Given the description of an element on the screen output the (x, y) to click on. 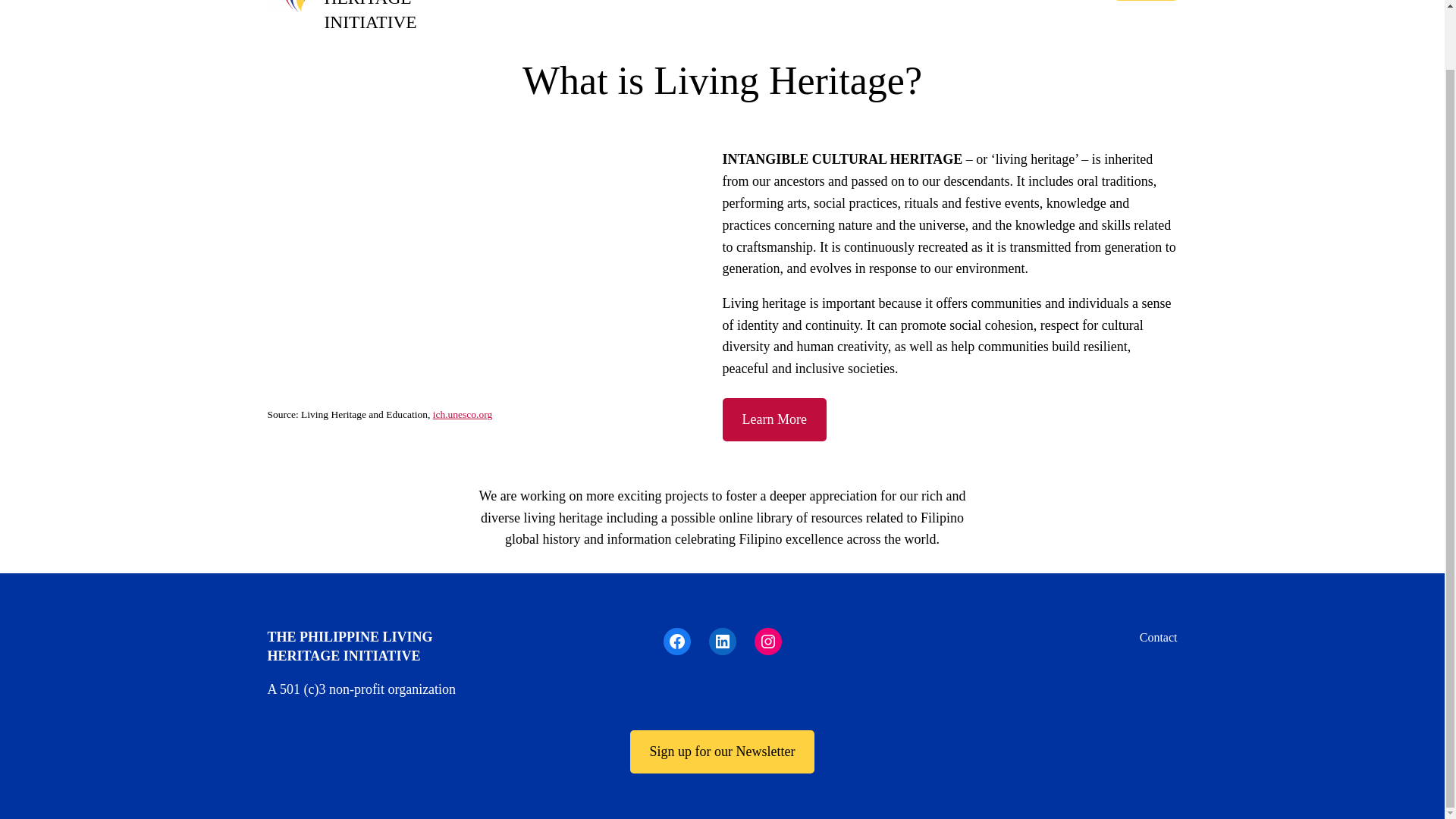
Learn More (773, 419)
ich.unesco.org (462, 414)
Contact (1158, 637)
Sign up for our Newsletter (722, 751)
Facebook (676, 641)
Instagram (767, 641)
LinkedIn (721, 641)
Donate (1145, 0)
THE PHILIPPINE LIVING HERITAGE INITIATIVE (391, 15)
